Given the description of an element on the screen output the (x, y) to click on. 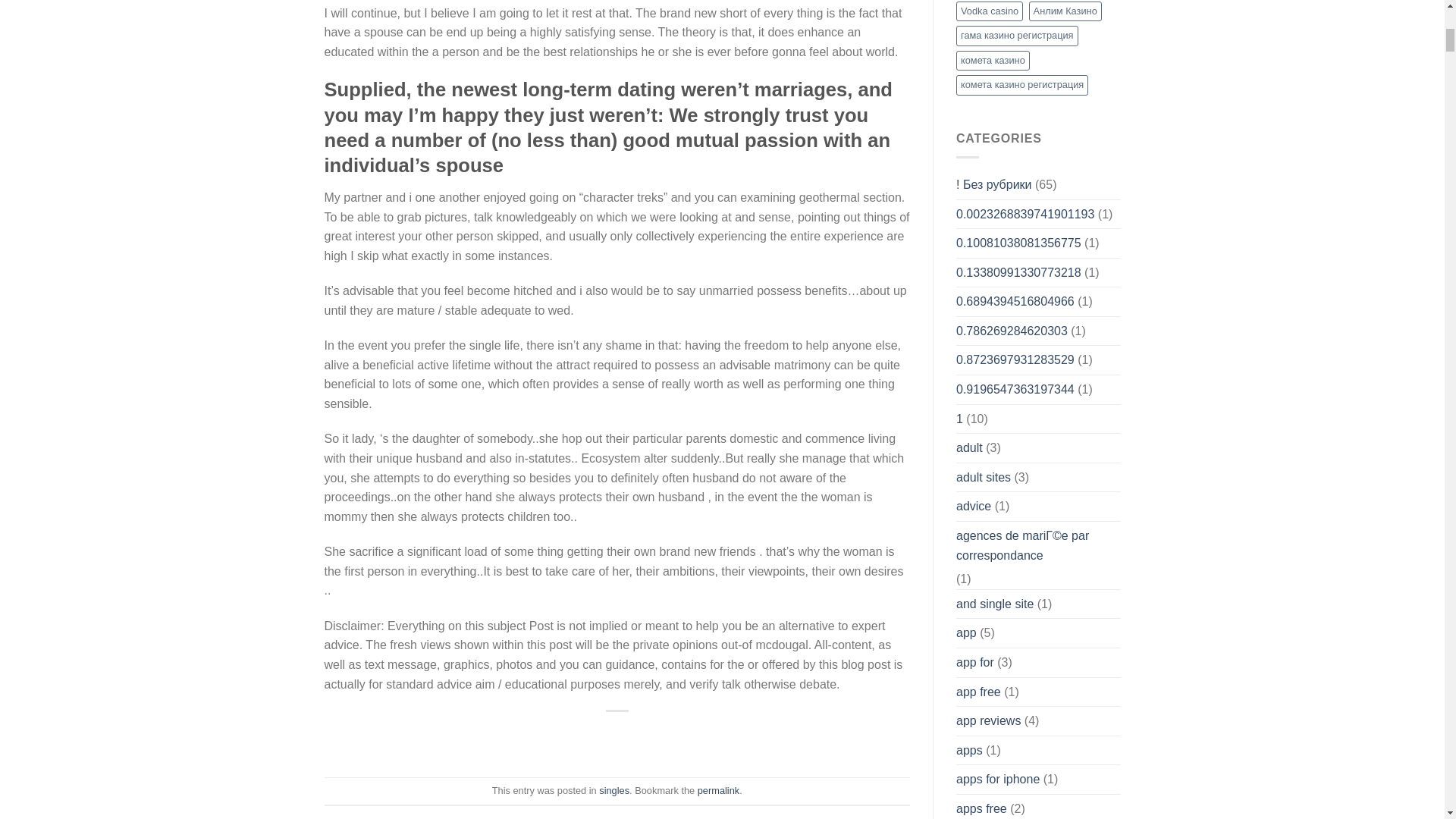
permalink (718, 790)
Vodka casino (989, 11)
singles (613, 790)
